Given the description of an element on the screen output the (x, y) to click on. 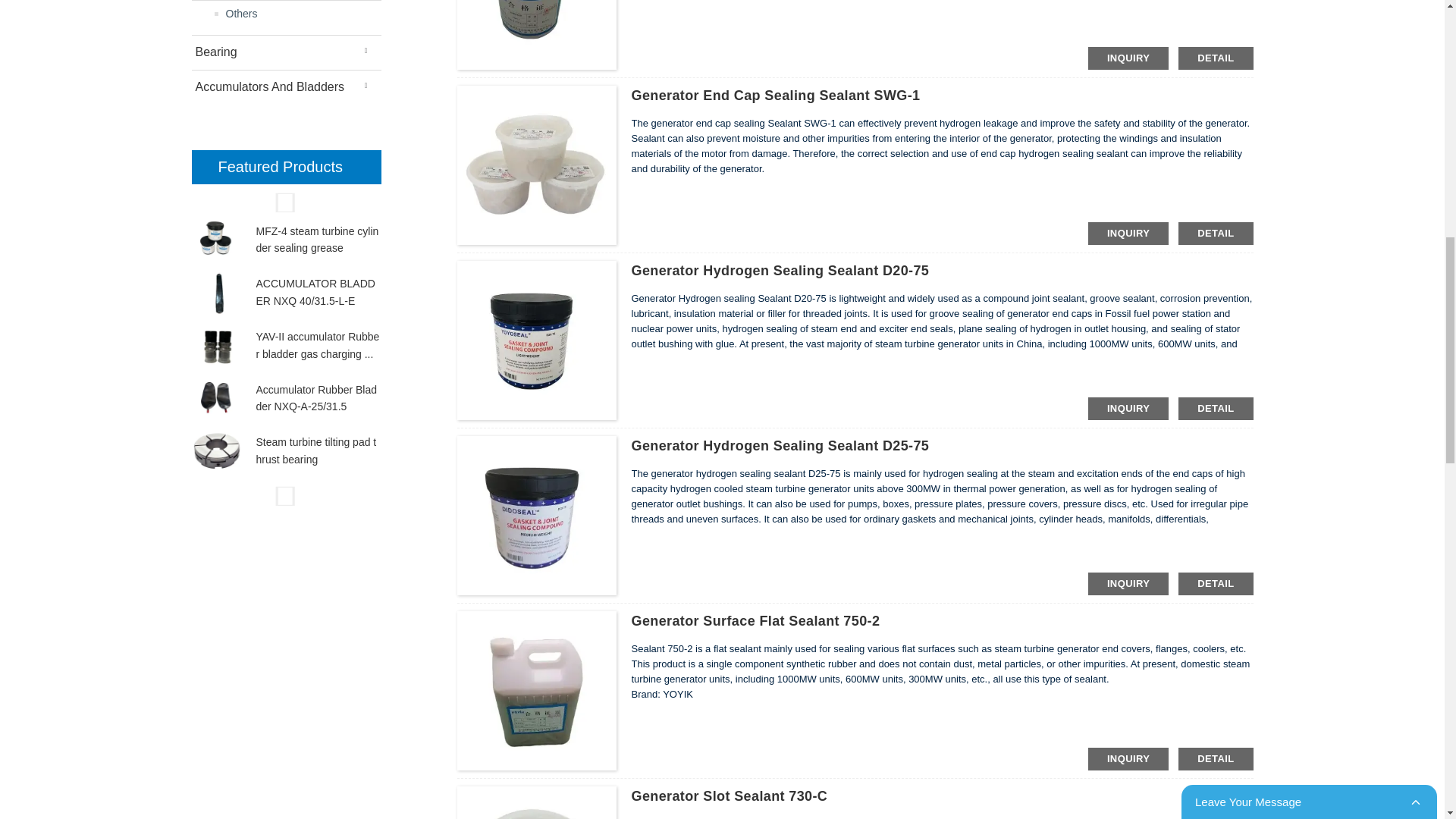
Generator Hydrogen sealing Sealant D20-75 (779, 270)
Generator slot Sealant 730-C (728, 795)
Generator Hydrogen sealing Sealant D25-75 (779, 445)
Generator Surface flat sealant 750-2 (754, 620)
Generator end cap sealing Sealant SWG-1 (775, 95)
